Given the description of an element on the screen output the (x, y) to click on. 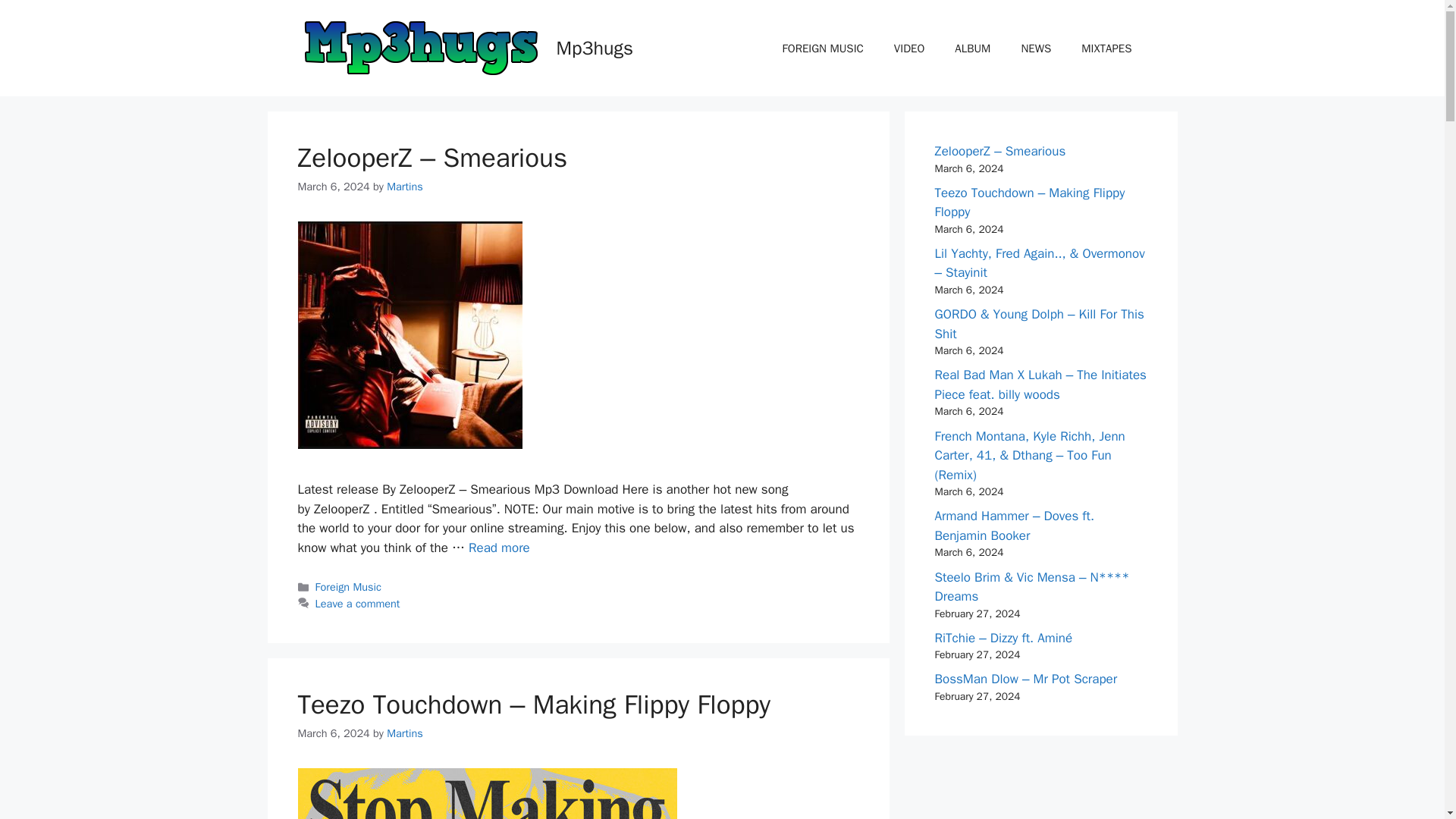
Read more (498, 547)
View all posts by Martins (405, 186)
Martins (405, 186)
NEWS (1035, 48)
View all posts by Martins (405, 733)
Martins (405, 733)
ALBUM (972, 48)
VIDEO (909, 48)
Foreign Music (348, 586)
FOREIGN MUSIC (823, 48)
